Given the description of an element on the screen output the (x, y) to click on. 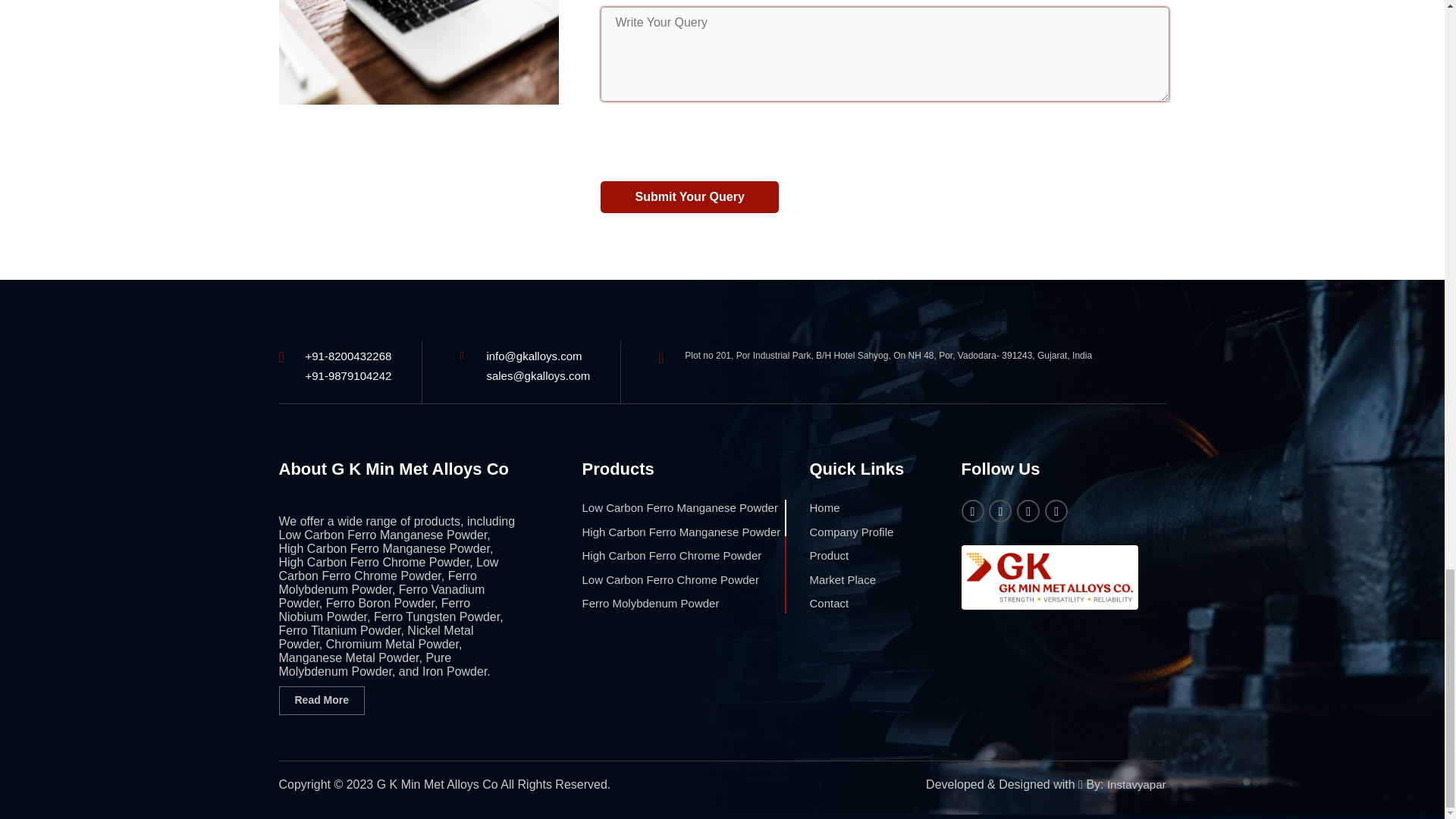
G K Min Met Alloys Co (1049, 577)
Submit Your Query (688, 196)
